Given the description of an element on the screen output the (x, y) to click on. 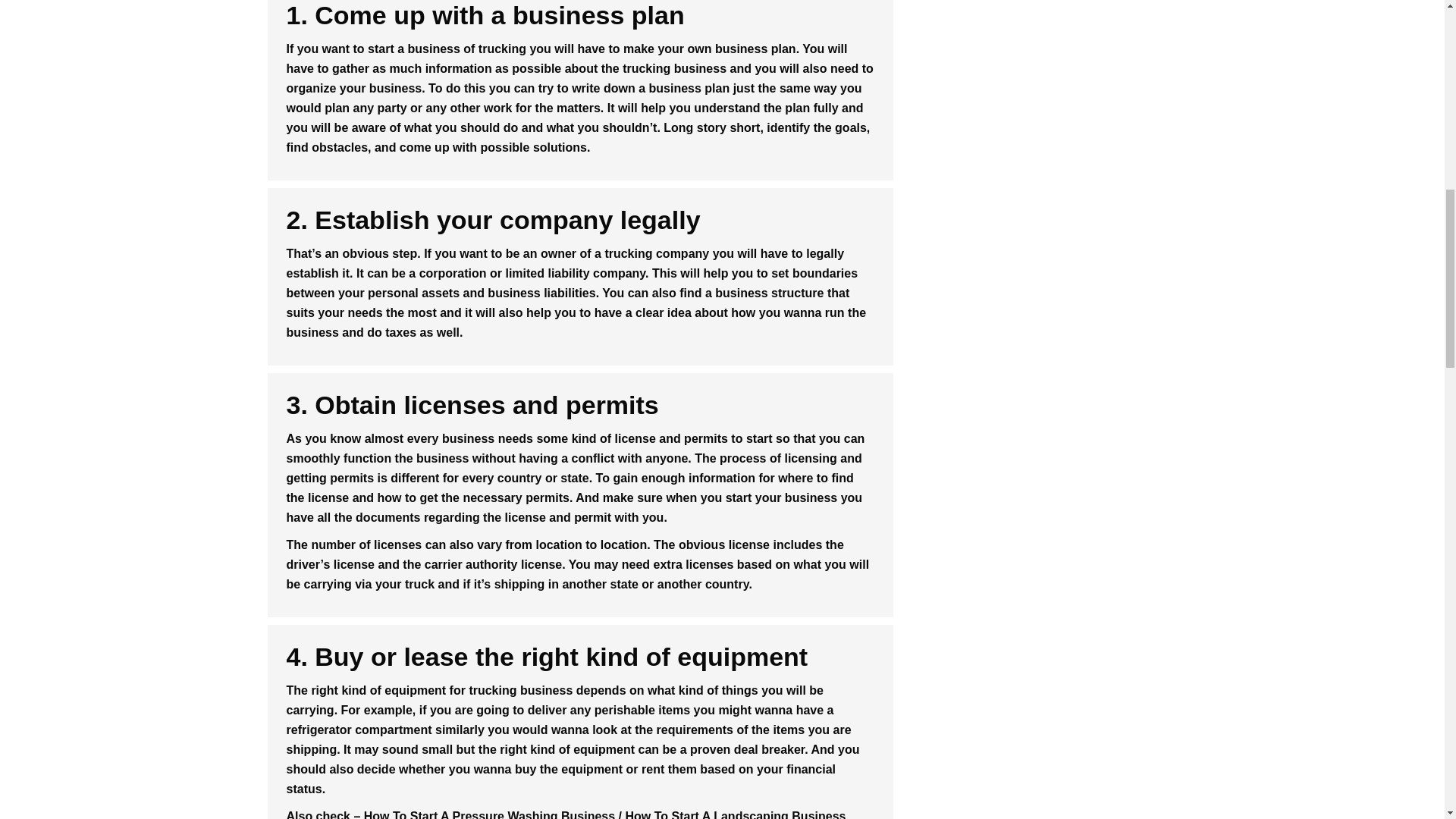
How To Start A Pressure Washing Business (489, 814)
How To Start A Landscaping Business (734, 814)
